Given the description of an element on the screen output the (x, y) to click on. 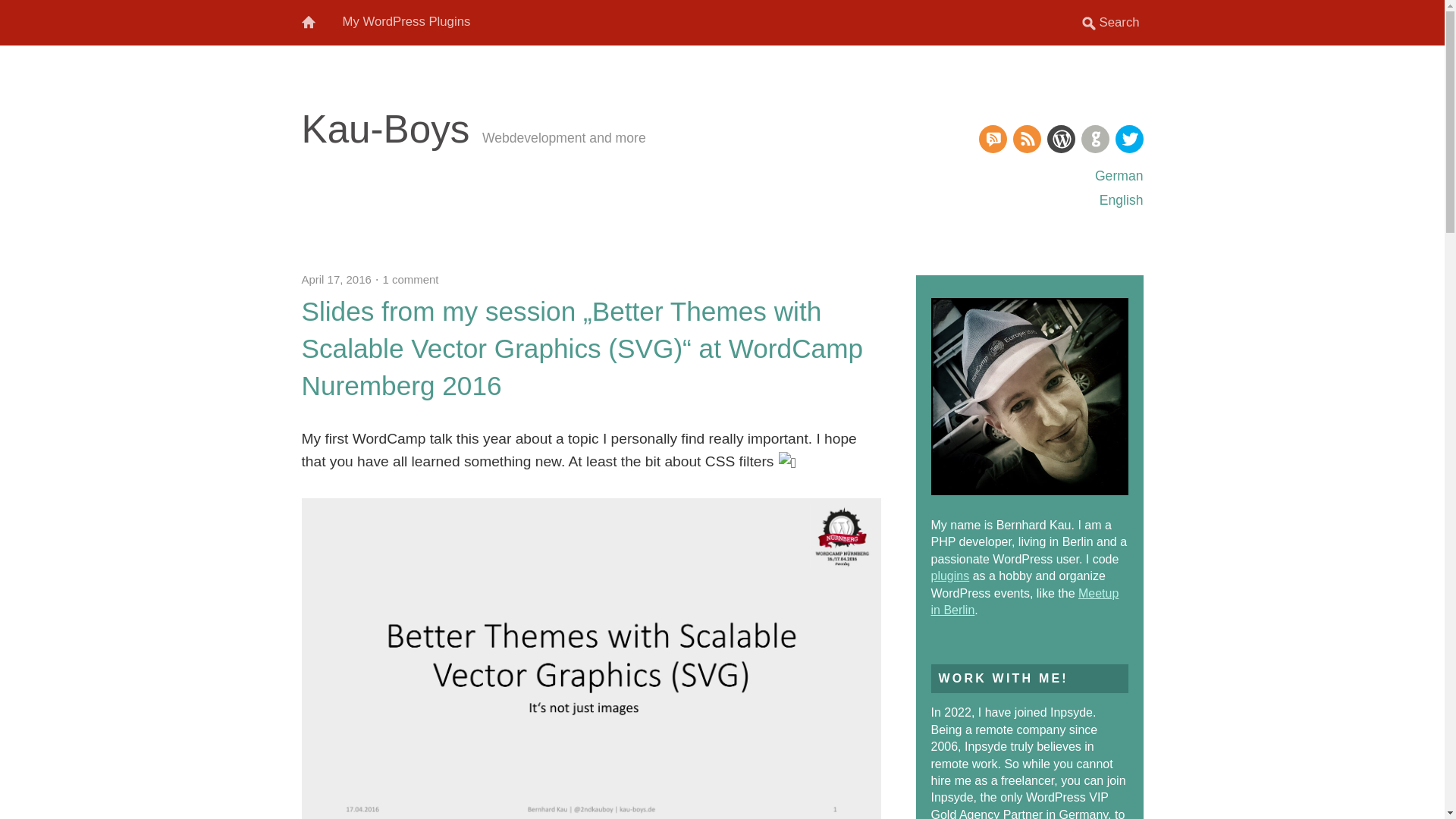
plugins (950, 575)
RSS Comments (992, 139)
RSS Comments (992, 139)
Twitter (1128, 139)
RSS Feed (1027, 139)
Twitter (1128, 139)
Kau-Boys (385, 128)
Kau-Boys (385, 128)
WordPress (1060, 139)
WordPress (1060, 139)
